Given the description of an element on the screen output the (x, y) to click on. 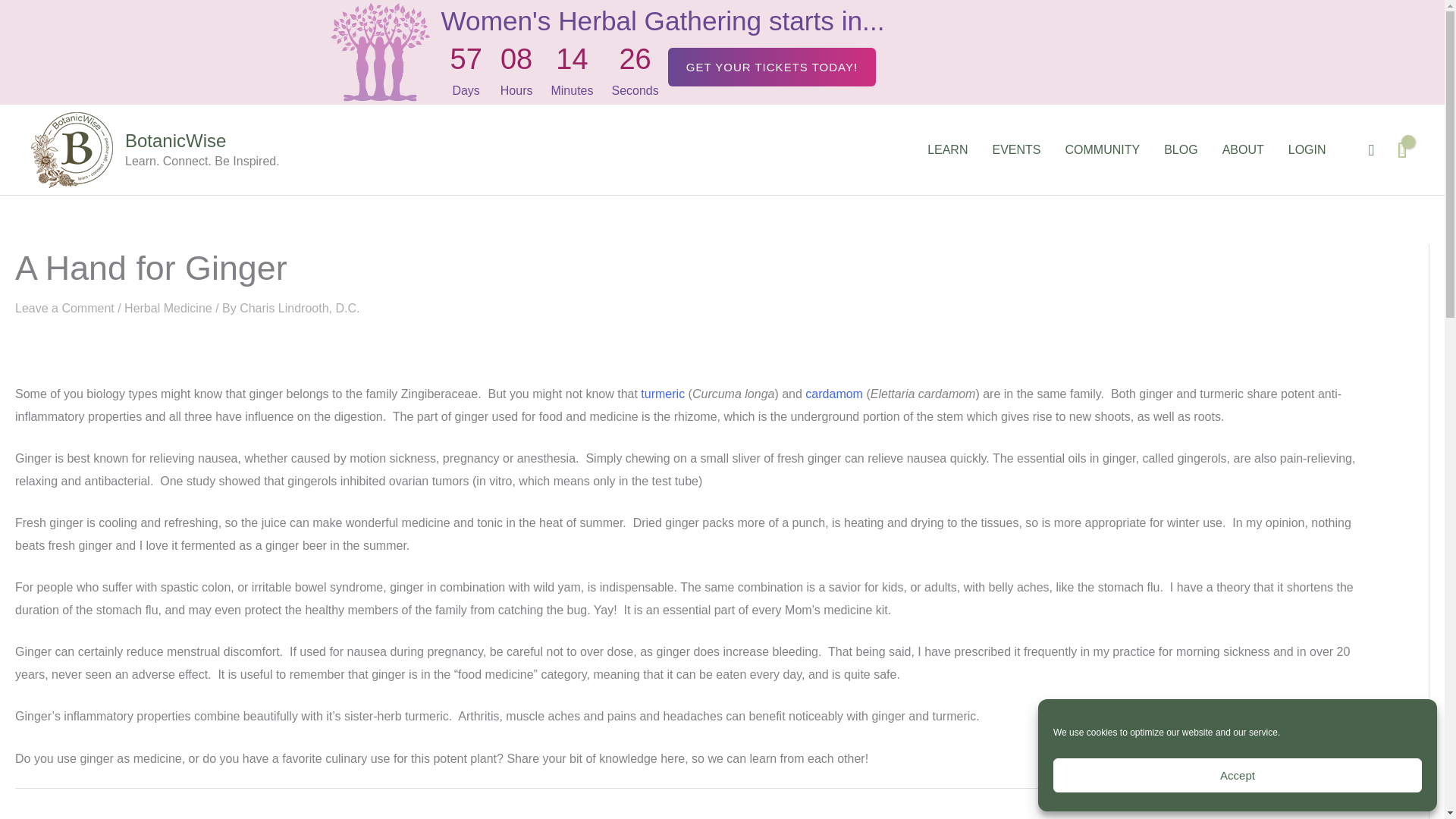
Accept (1237, 775)
turmeric (662, 393)
Fermenting Ginger (1210, 816)
cardamom (834, 393)
View all posts by Charis Lindrooth, D.C. (299, 308)
BotanicWise (175, 140)
Charis Lindrooth, D.C. (299, 308)
GET YOUR TICKETS TODAY! (772, 66)
Herbal Medicine (167, 308)
EVENTS (1015, 150)
COMMUNITY (1101, 150)
Leave a Comment (64, 308)
One Woman's Inspiration... (79, 816)
